Given the description of an element on the screen output the (x, y) to click on. 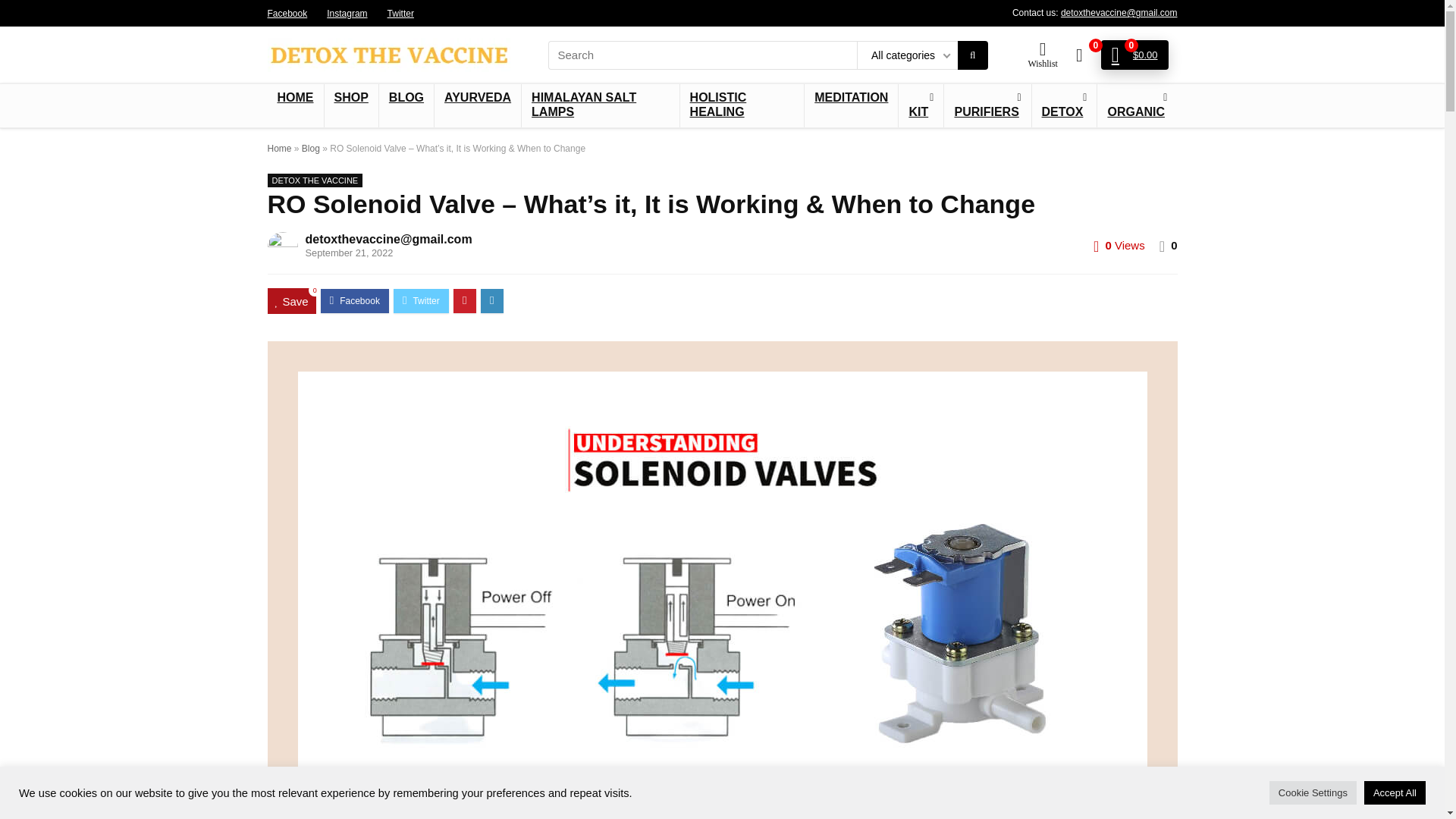
DETOX THE VACCINE (314, 180)
AYURVEDA (477, 98)
Instagram (346, 12)
DETOX (1064, 105)
Twitter (400, 12)
SHOP (351, 98)
Blog (310, 148)
PURIFIERS (986, 105)
View all posts in DETOX THE VACCINE (314, 180)
Facebook (286, 12)
Home (278, 148)
HIMALAYAN SALT LAMPS (599, 105)
KIT (920, 105)
HOLISTIC HEALING (742, 105)
MEDITATION (851, 98)
